Given the description of an element on the screen output the (x, y) to click on. 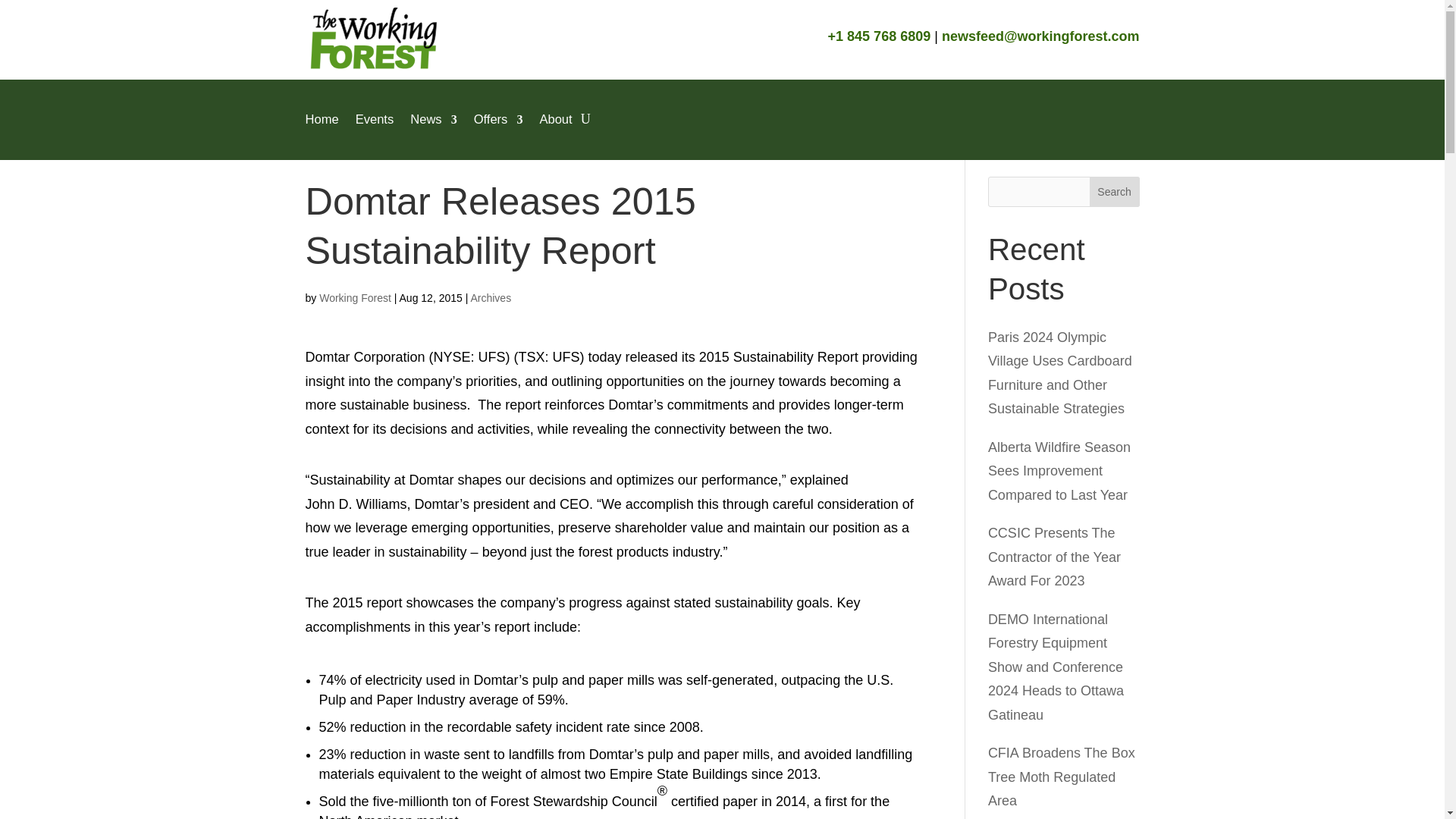
Search (1114, 191)
Posts by Working Forest (354, 297)
CCSIC Presents The Contractor of the Year Award For 2023 (1054, 556)
CFIA Broadens The Box Tree Moth Regulated Area (1061, 776)
Working Forest (354, 297)
Archives (490, 297)
